Given the description of an element on the screen output the (x, y) to click on. 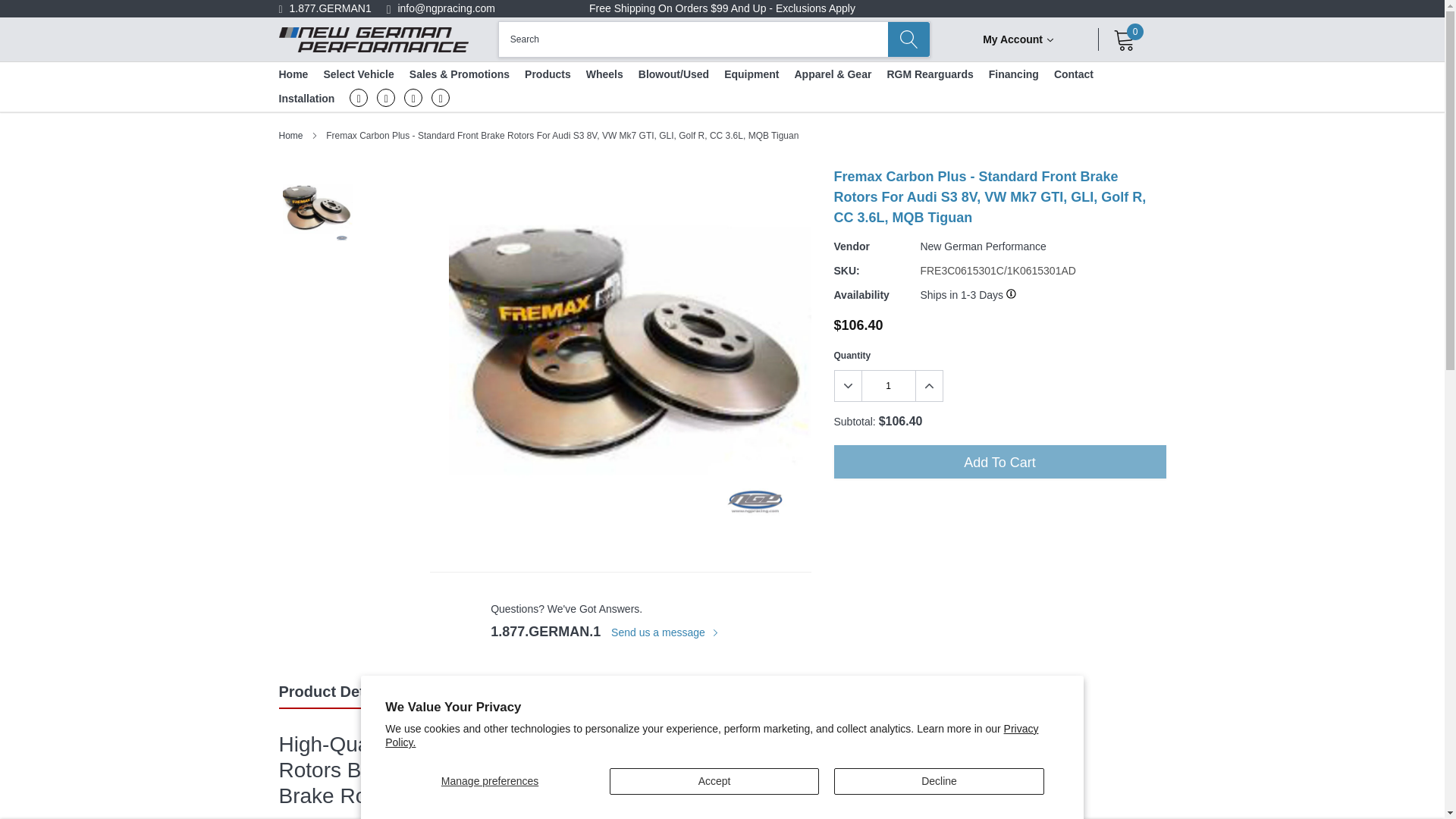
Wheels (604, 73)
1.877.GERMAN1 (330, 8)
Privacy Policy. (711, 735)
Manage preferences (489, 781)
YouTube (439, 97)
Instagram (358, 97)
0 (1124, 38)
Select Vehicle (358, 73)
1 (887, 386)
My Account (1017, 39)
